Given the description of an element on the screen output the (x, y) to click on. 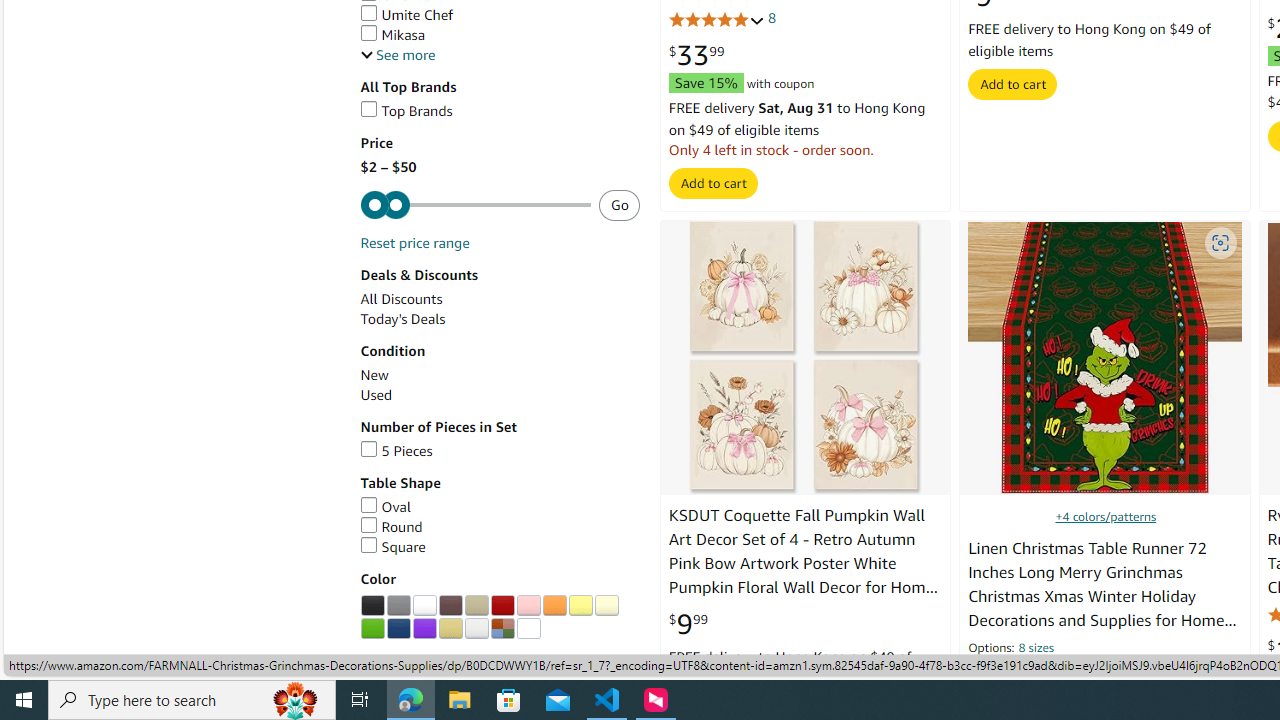
AutomationID: p_n_feature_twenty_browse-bin/3254105011 (554, 605)
Go back to filtering menu (84, 666)
Round (390, 526)
Used (499, 395)
All Discounts (400, 299)
AutomationID: p_n_feature_twenty_browse-bin/3254099011 (398, 605)
Silver (475, 628)
Maximum (475, 205)
AutomationID: p_n_feature_twenty_browse-bin/3254109011 (398, 628)
AutomationID: p_n_feature_twenty_browse-bin/3254112011 (475, 628)
Yellow (580, 605)
Multi (502, 628)
Umite Chef (406, 15)
Used (375, 394)
